Given the description of an element on the screen output the (x, y) to click on. 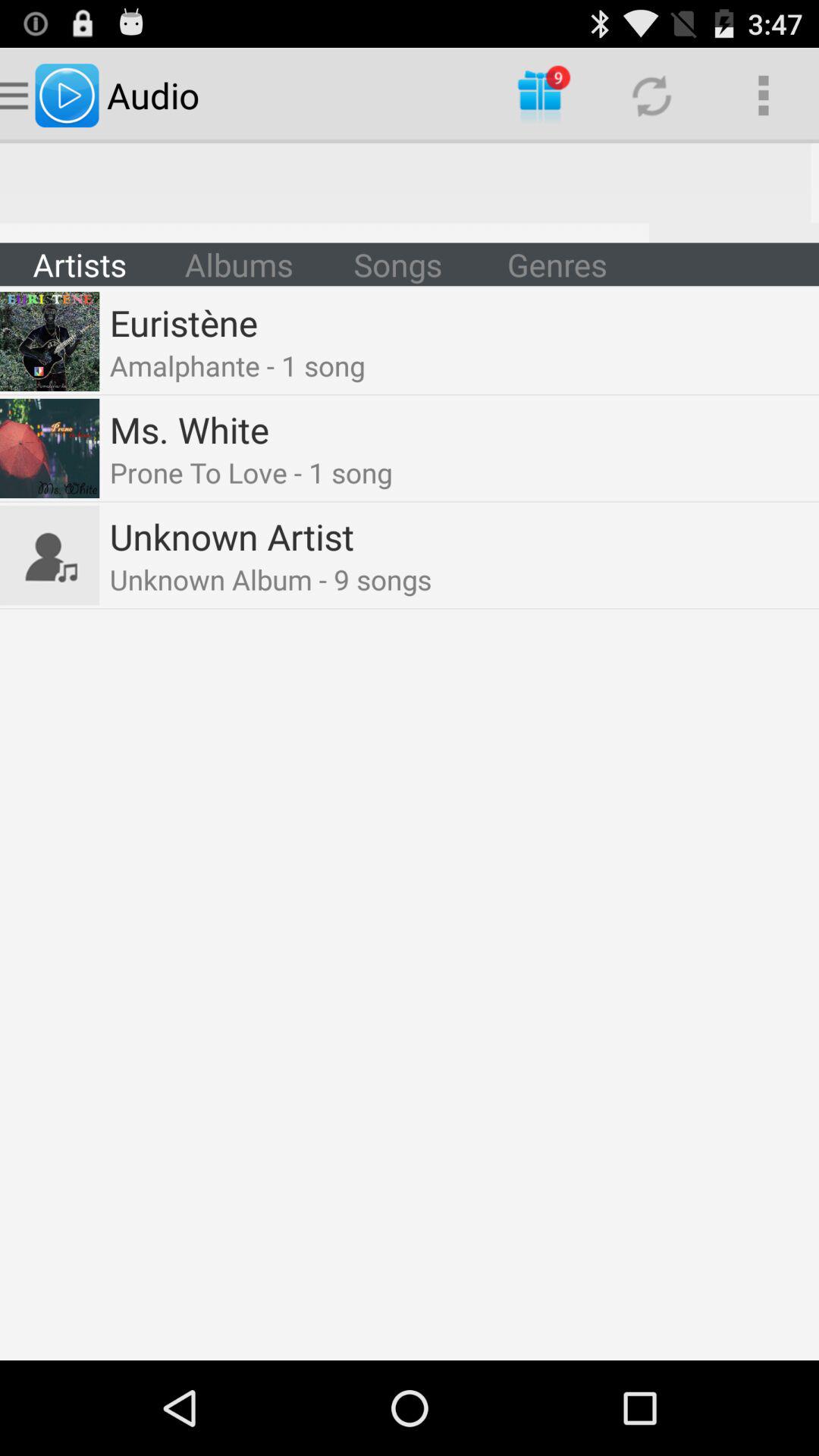
click the app next to the audio item (540, 95)
